Given the description of an element on the screen output the (x, y) to click on. 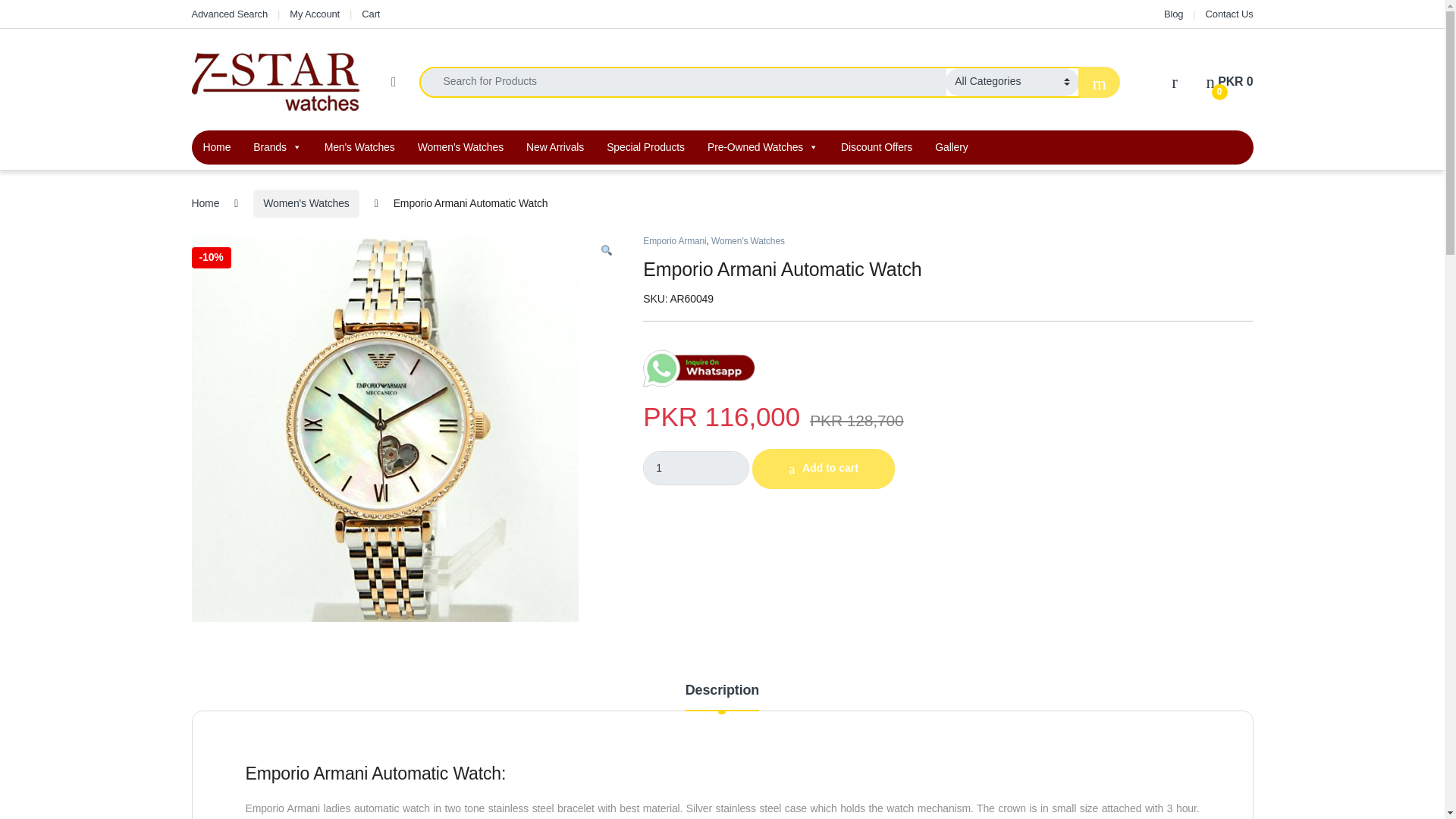
Advanced Search (228, 13)
My Account (314, 13)
1 (696, 468)
Contact Us (1229, 13)
Advanced Search (228, 13)
My Account (314, 13)
Contact Us (1229, 13)
